Given the description of an element on the screen output the (x, y) to click on. 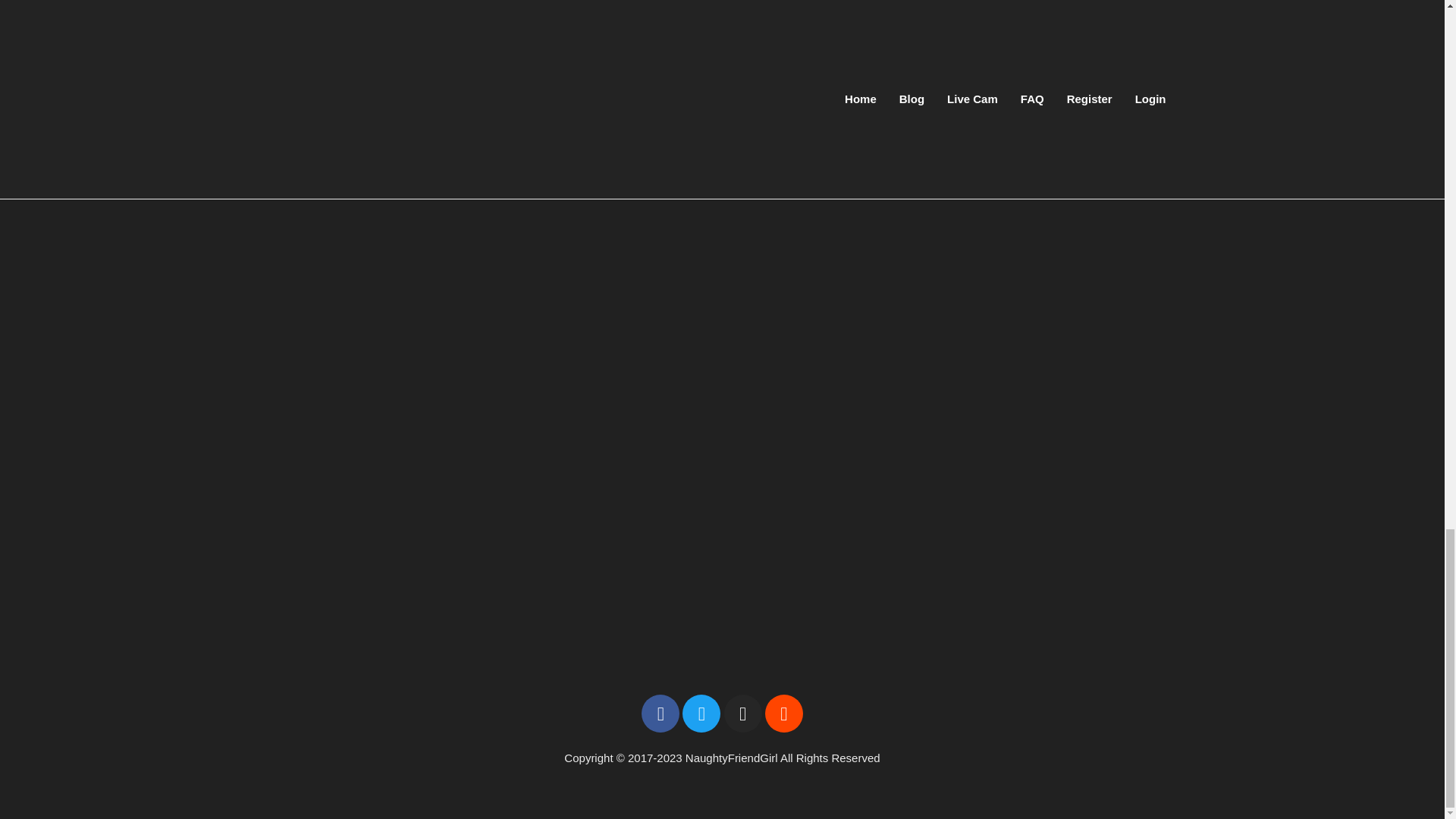
DMCA.com Protection Status (721, 374)
Privacy policy (624, 41)
Cookies Policy (875, 41)
Contact (540, 41)
Terms and Conditions (748, 41)
Home      (491, 41)
FAQ (952, 41)
